Given the description of an element on the screen output the (x, y) to click on. 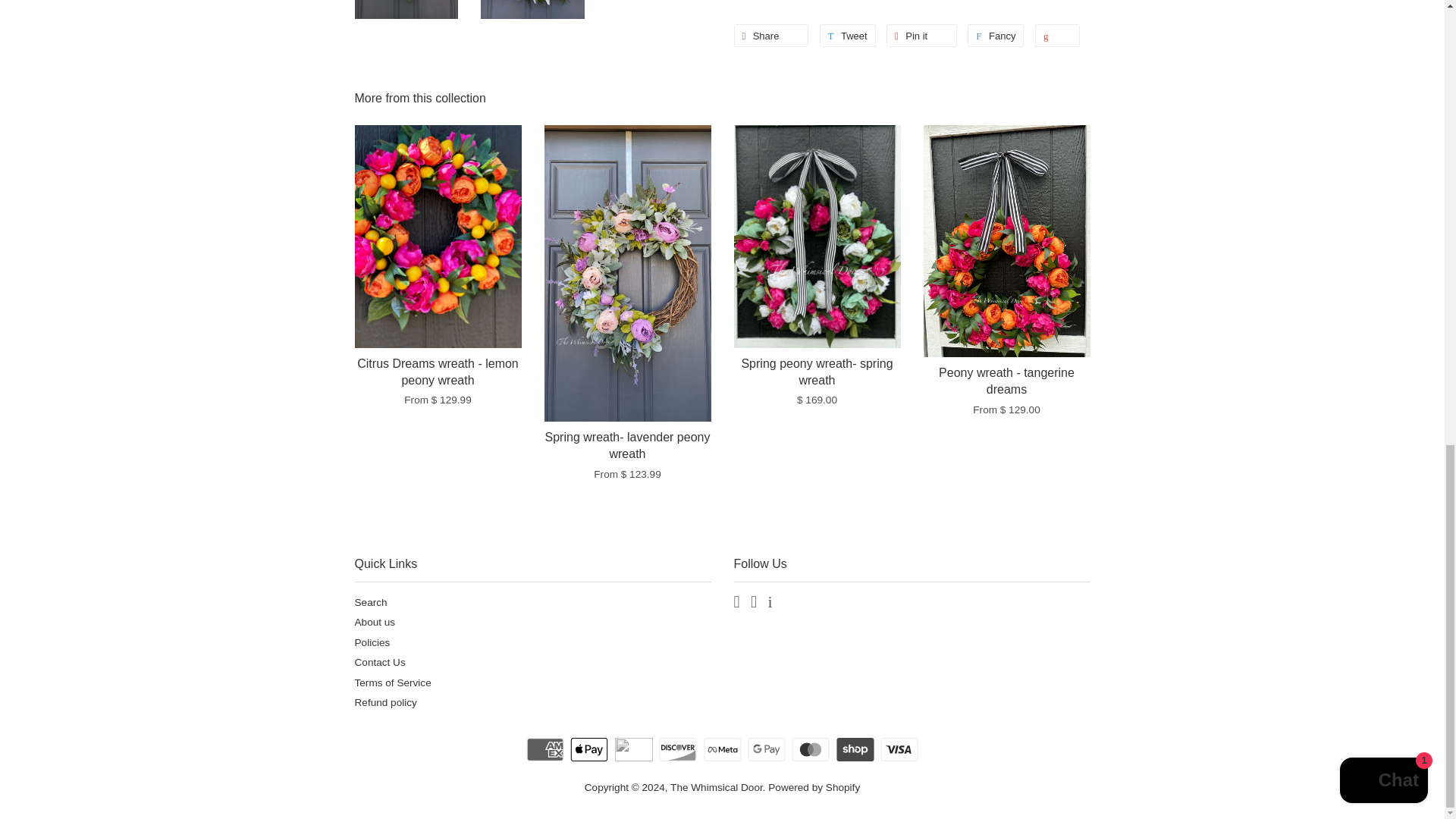
Fancy (995, 35)
Terms of Service (392, 682)
Policies (372, 642)
Pin it (921, 35)
Refund policy (385, 702)
About us (375, 622)
Tweet (847, 35)
Search (371, 602)
Contact Us (380, 662)
Share (771, 35)
